Given the description of an element on the screen output the (x, y) to click on. 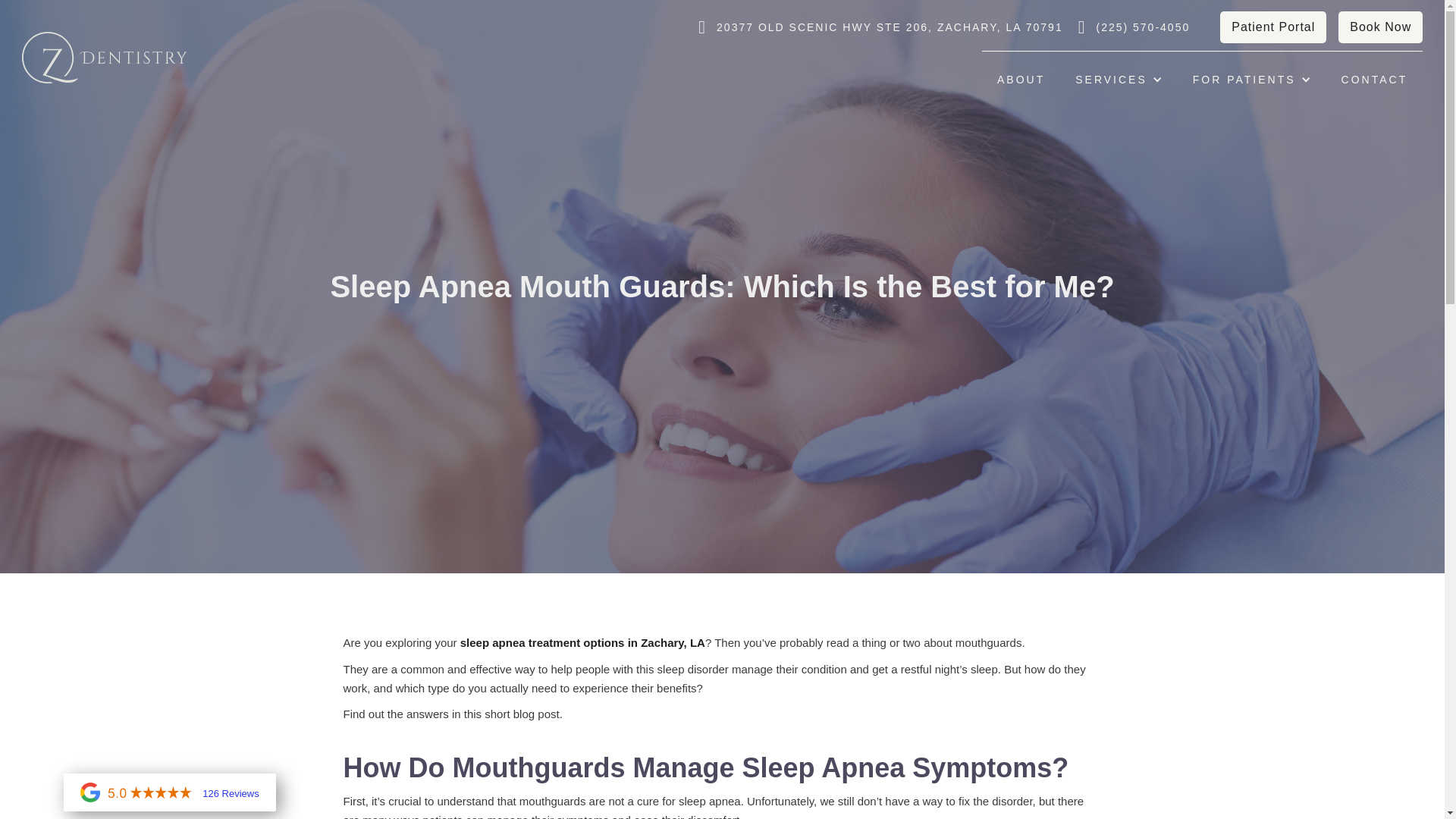
CONTACT (1374, 79)
20377 OLD SCENIC HWY STE 206, ZACHARY, LA 70791 (889, 27)
sleep apnea treatment options in Zachary, LA (582, 642)
ABOUT (1020, 79)
Book Now (1380, 27)
Patient Portal (1273, 27)
